Given the description of an element on the screen output the (x, y) to click on. 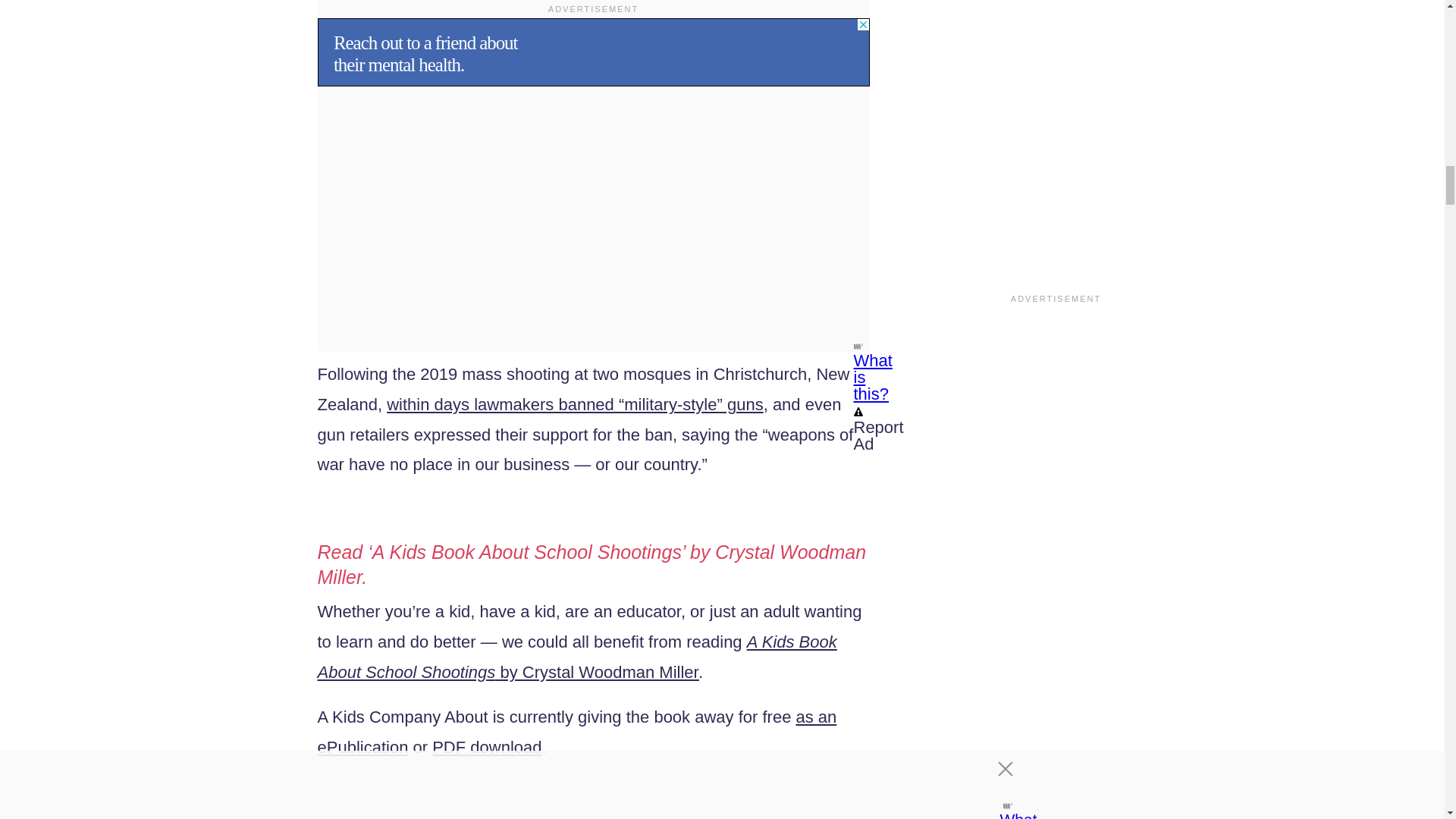
3rd party ad content (593, 52)
